Given the description of an element on the screen output the (x, y) to click on. 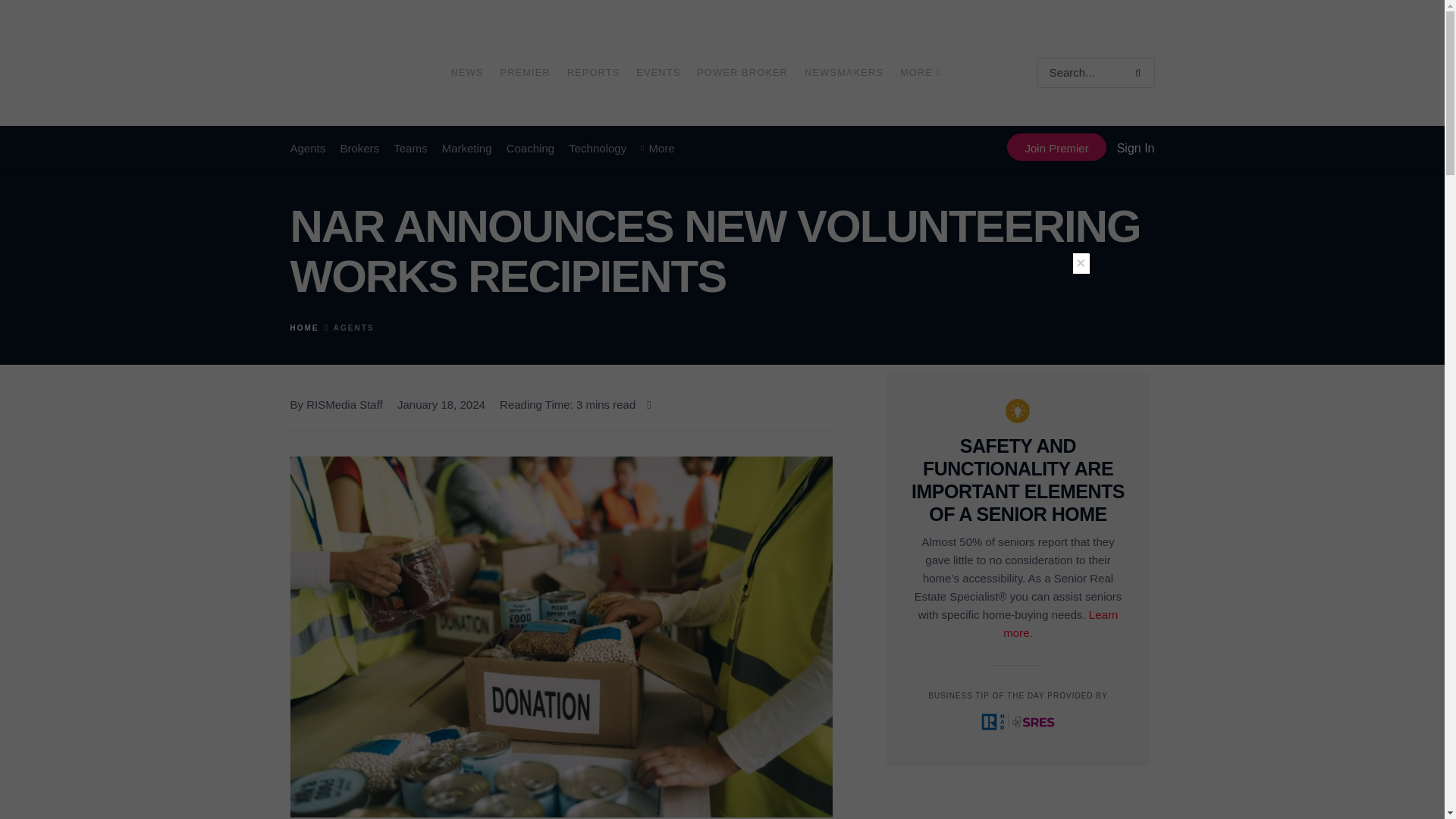
Join Premier (1056, 146)
EVENTS (657, 72)
Technology (597, 148)
Sign In (1135, 147)
Marketing (467, 148)
NEWSMAKERS (844, 72)
REPORTS (593, 72)
PREMIER (525, 72)
POWER BROKER (742, 72)
